Given the description of an element on the screen output the (x, y) to click on. 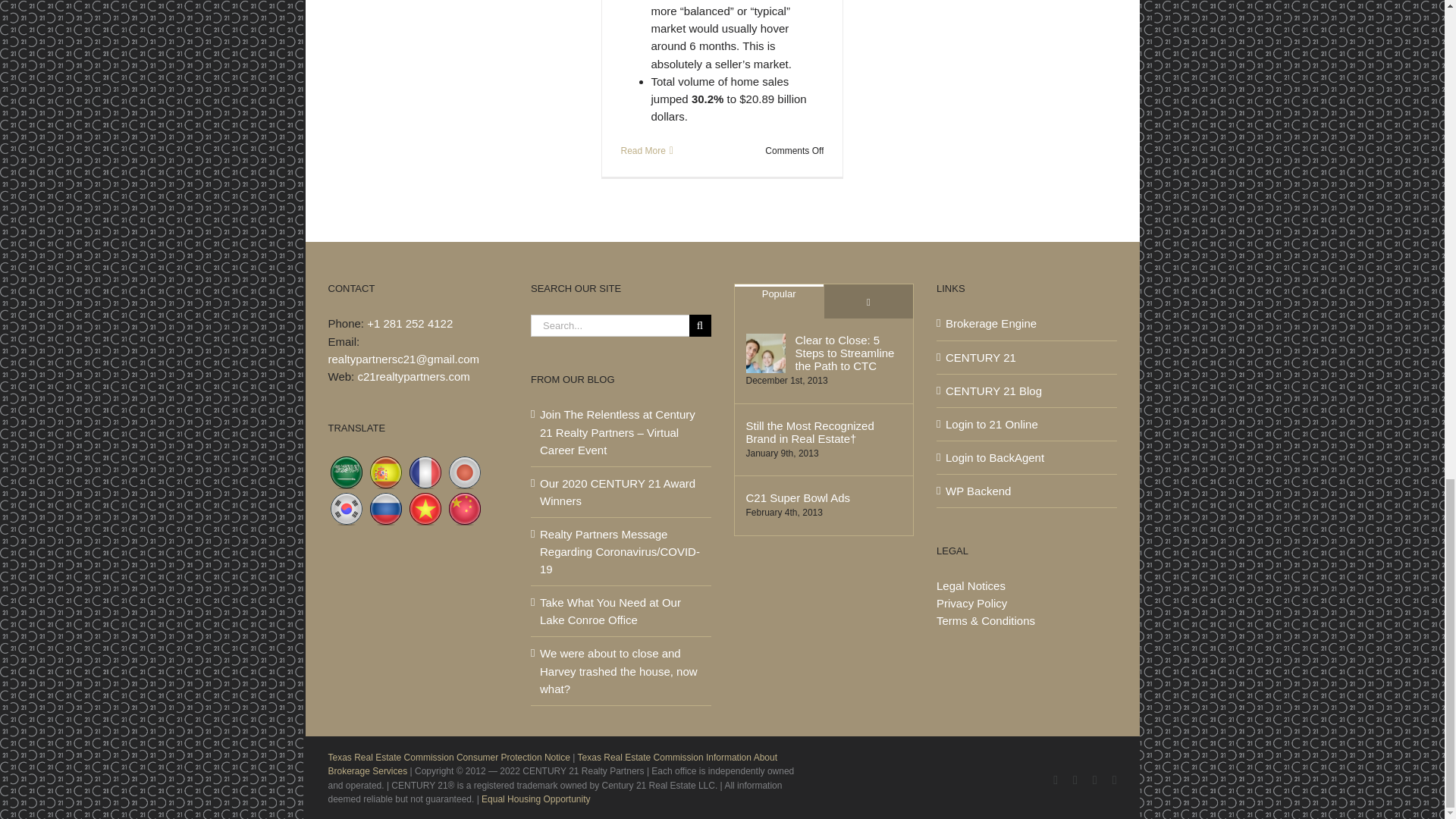
CENTURY 21 Website (1026, 357)
